Given the description of an element on the screen output the (x, y) to click on. 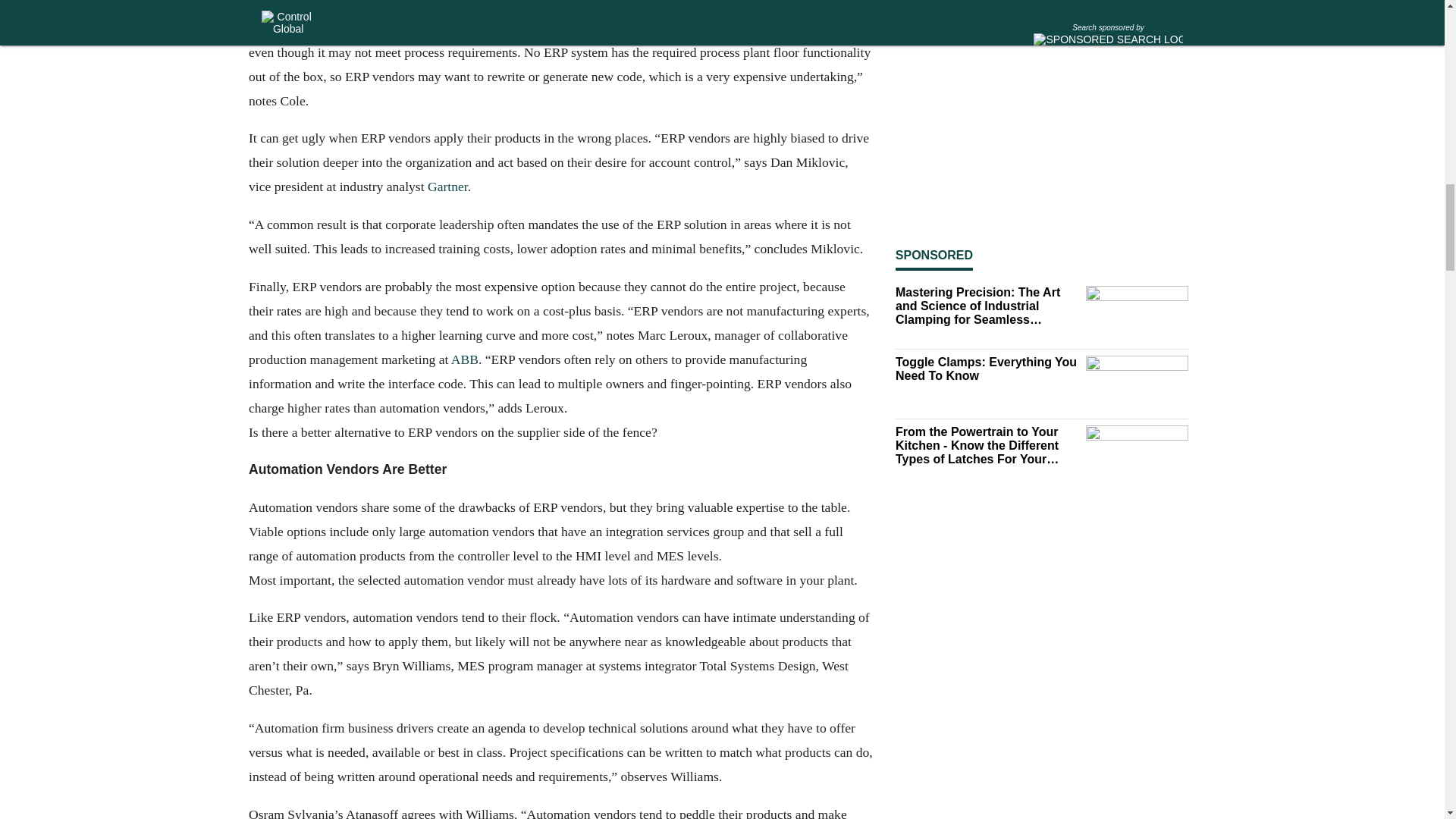
Gartner (447, 186)
ABB (463, 358)
